Given the description of an element on the screen output the (x, y) to click on. 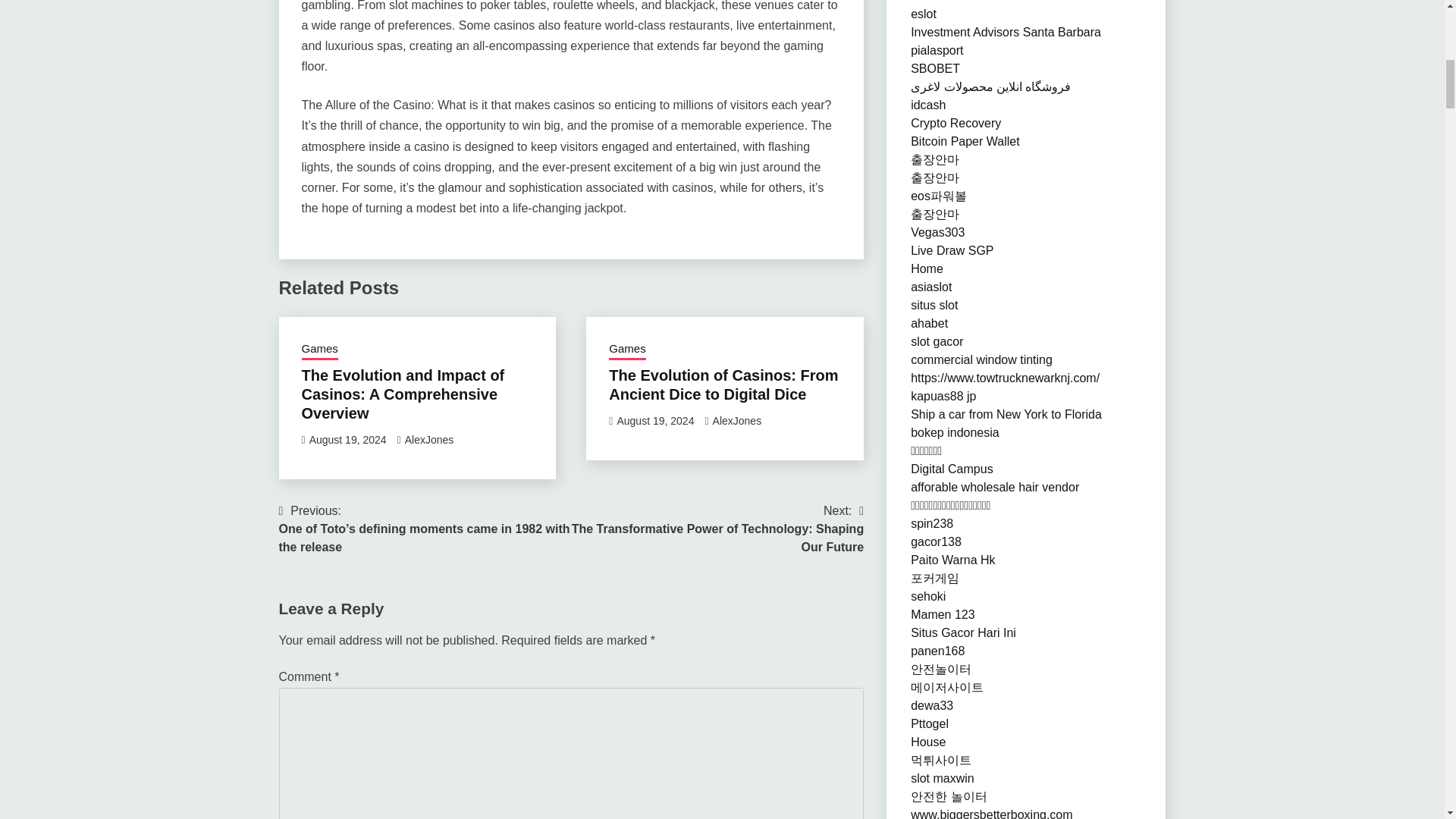
AlexJones (737, 420)
Games (626, 350)
AlexJones (429, 439)
Games (319, 350)
The Evolution of Casinos: From Ancient Dice to Digital Dice (723, 384)
August 19, 2024 (654, 420)
August 19, 2024 (347, 439)
